Given the description of an element on the screen output the (x, y) to click on. 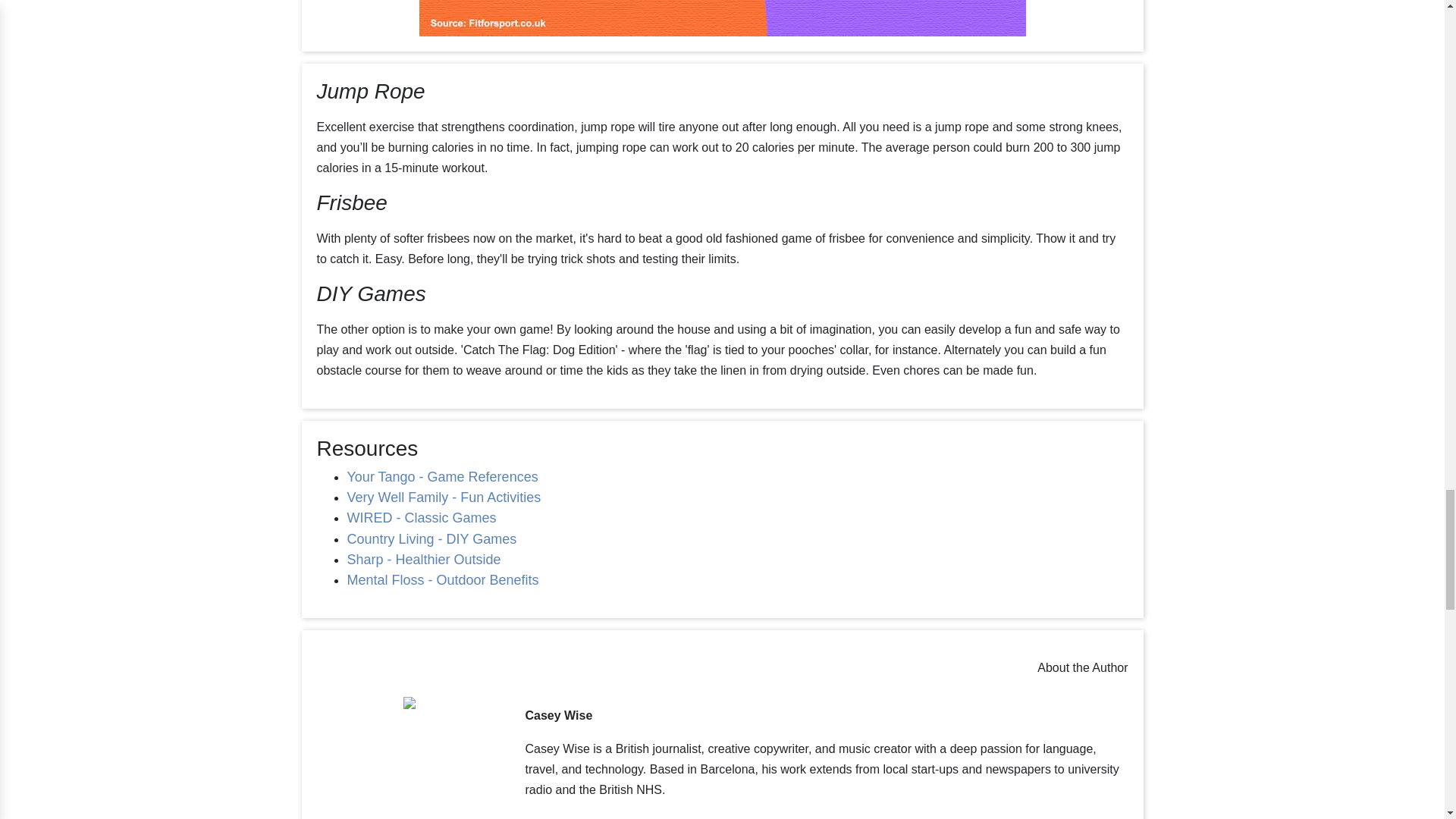
Mental Floss - Outdoor Benefits (442, 580)
Sharp - Healthier Outside (423, 559)
Very Well Family - Fun Activities (444, 497)
WIRED - Classic Games (421, 517)
Country Living - DIY Games (431, 539)
Your Tango - Game References  (444, 476)
